Given the description of an element on the screen output the (x, y) to click on. 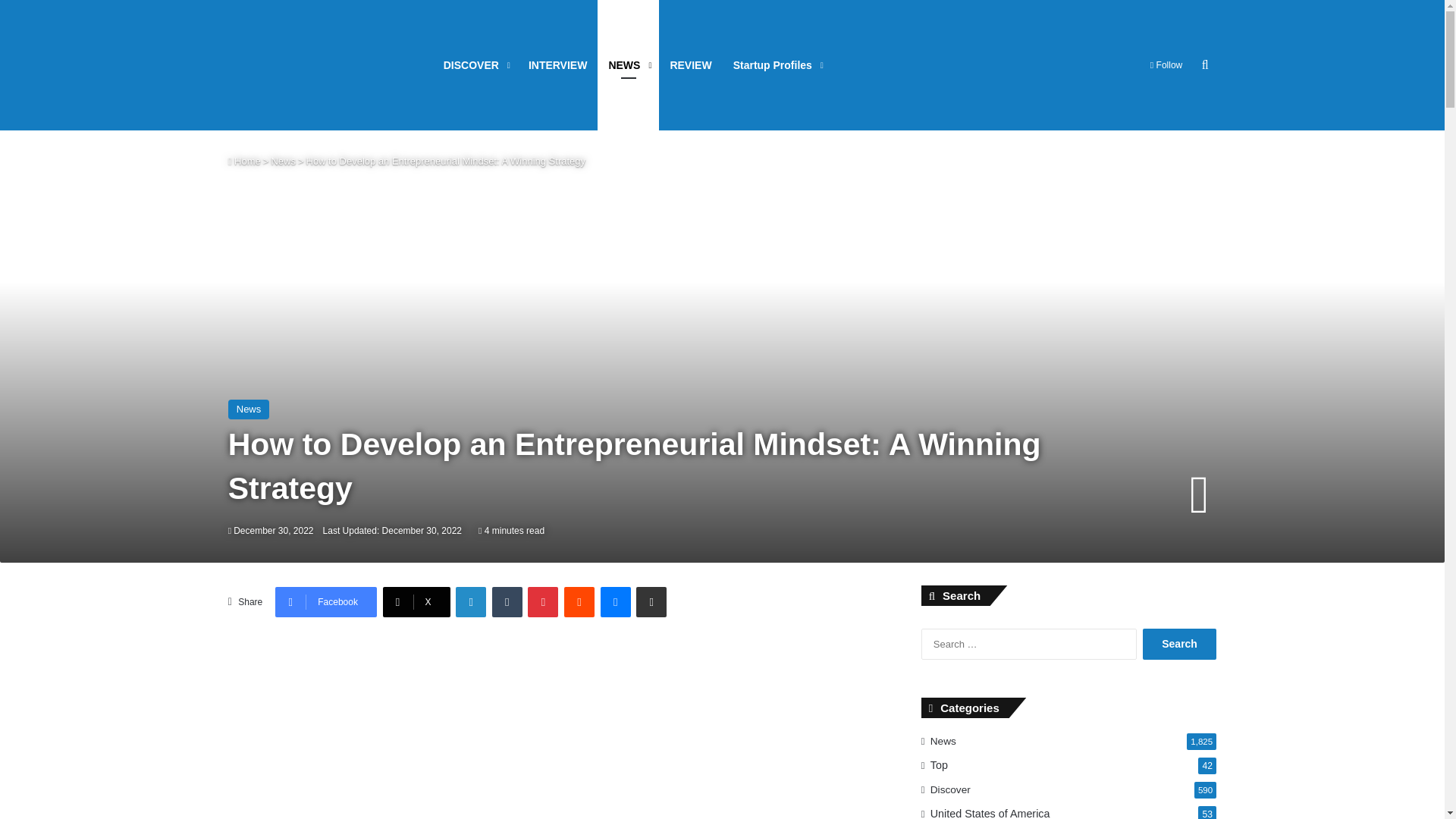
Home (244, 161)
Search (1178, 644)
Messenger (614, 602)
Reddit (579, 602)
Search (1178, 644)
Share via Email (651, 602)
Tumblr (507, 602)
X (415, 602)
Tumblr (507, 602)
Share via Email (651, 602)
Facebook (326, 602)
Pinterest (542, 602)
Pinterest (542, 602)
Facebook (326, 602)
News (282, 161)
